Given the description of an element on the screen output the (x, y) to click on. 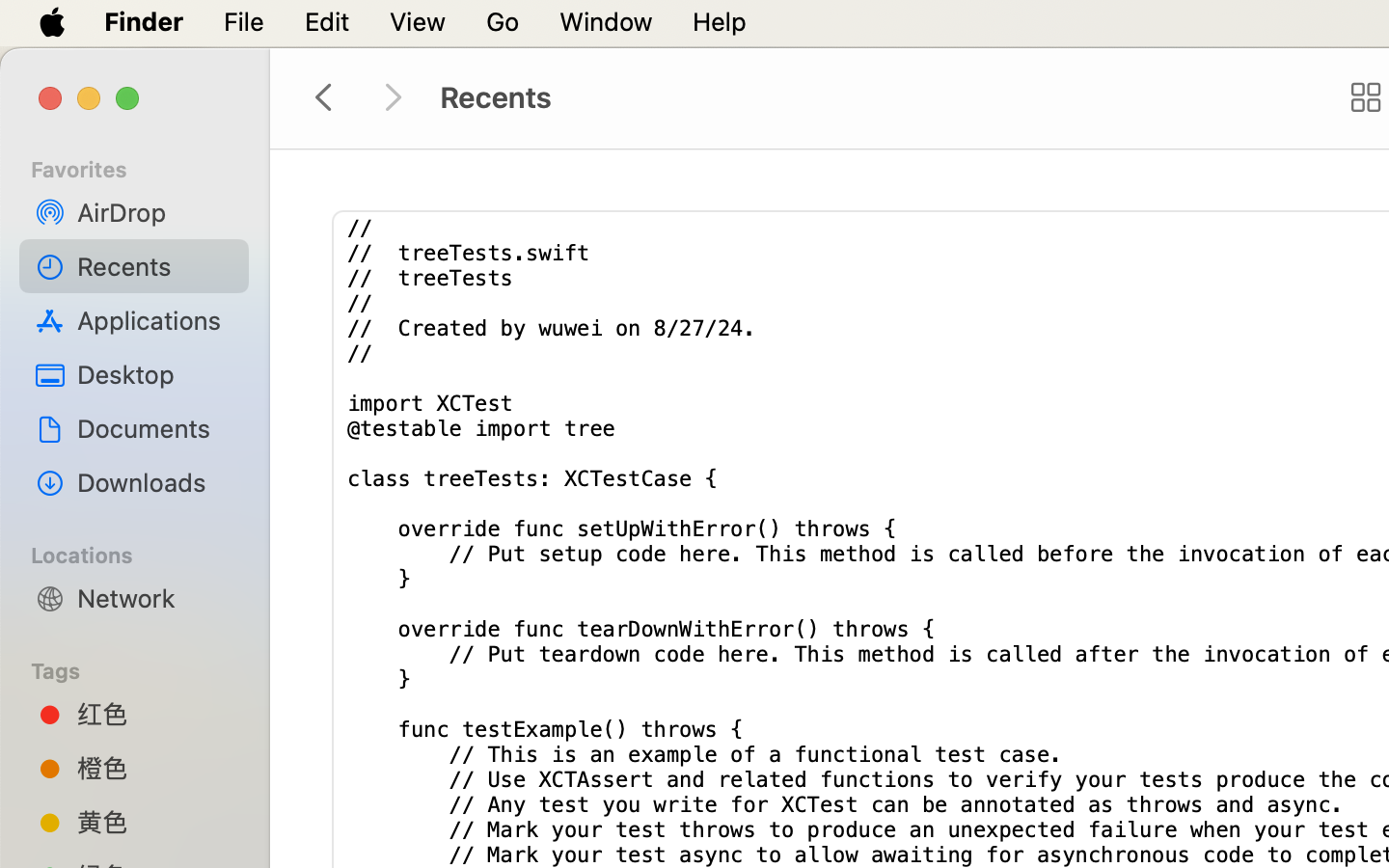
Documents Element type: AXStaticText (155, 427)
Applications Element type: AXStaticText (155, 319)
Downloads Element type: AXStaticText (155, 481)
Tags Element type: AXStaticText (145, 668)
Favorites Element type: AXStaticText (145, 166)
